Given the description of an element on the screen output the (x, y) to click on. 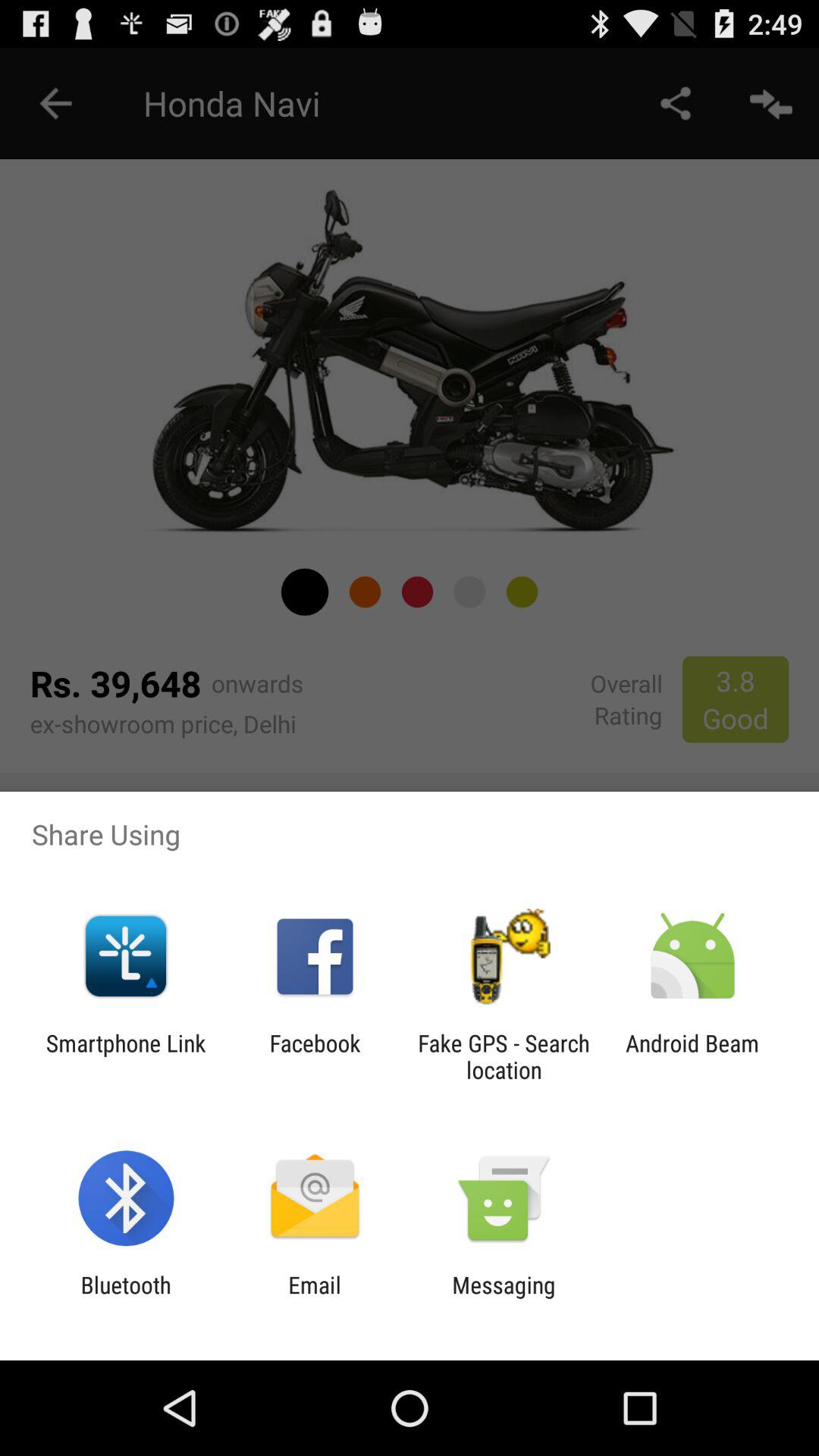
select the bluetooth icon (125, 1298)
